Given the description of an element on the screen output the (x, y) to click on. 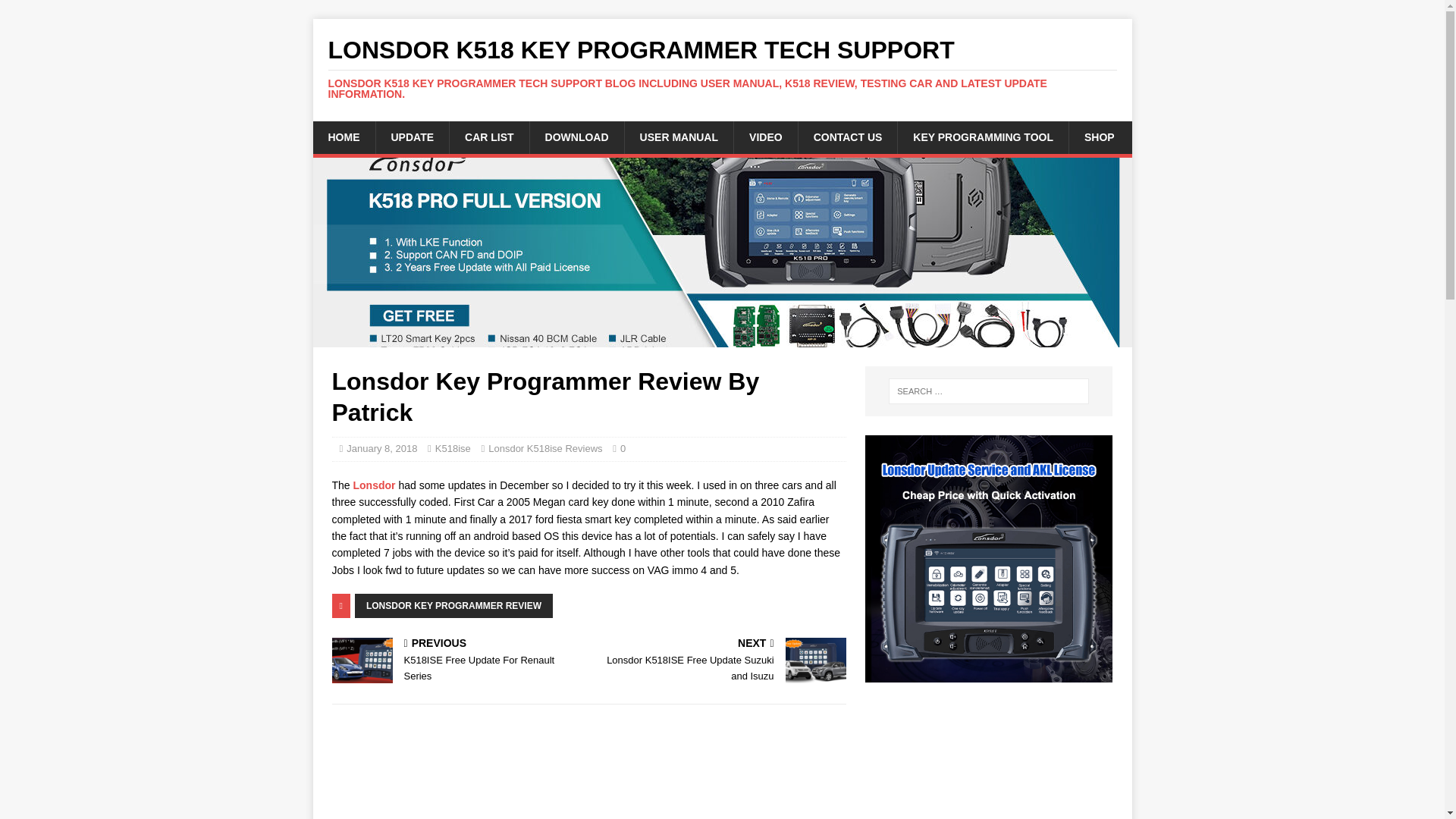
DOWNLOAD (576, 137)
January 8, 2018 (381, 448)
SHOP (1098, 137)
KEY PROGRAMMING TOOL (982, 137)
CONTACT US (847, 137)
LONSDOR KEY PROGRAMMER REVIEW (454, 605)
VIDEO (765, 137)
HOME (343, 137)
USER MANUAL (678, 137)
Lonsdor K518 Key Programmer Tech Support (721, 68)
